Given the description of an element on the screen output the (x, y) to click on. 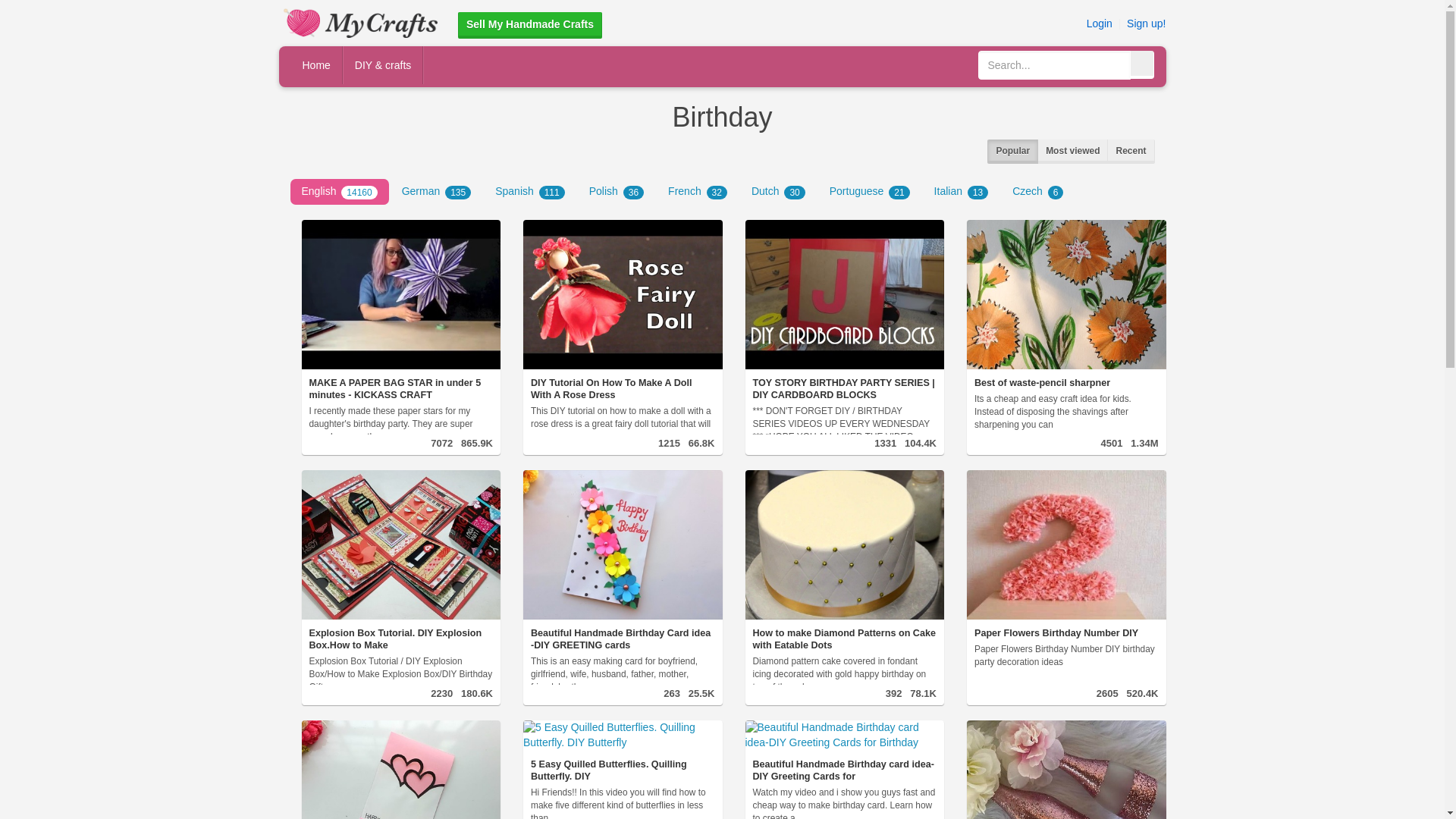
Sell My Handmade Crafts (530, 25)
DIY Tutorial On How To Make A Doll With A Rose Dress (622, 310)
Home (316, 64)
Beautiful Handmade Birthday card idea-DIY Greeting Cards for (843, 751)
Recent (1130, 151)
MAKE A PAPER BAG STAR in under 5 minutes - KICKASS CRAFT (400, 310)
English 14160 (338, 191)
